Given the description of an element on the screen output the (x, y) to click on. 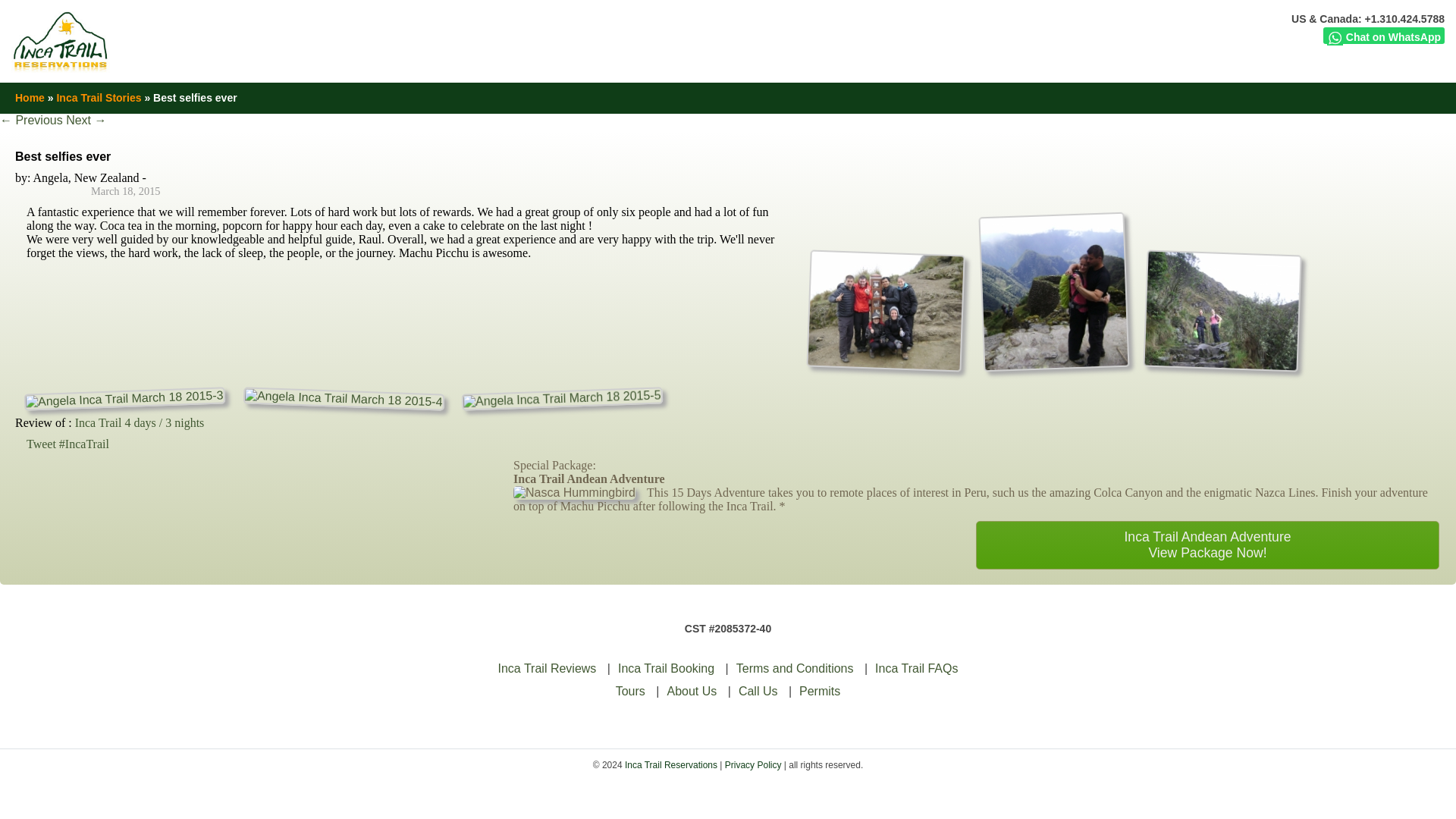
facebook (1309, 97)
Angela Inca Trail March 18 2015-5 (561, 394)
Inca Trail Reservations (670, 765)
Home (29, 97)
Angela Inca Trail March 18 2015 (883, 307)
Angela Inca Trail March 18 2015-1 (1056, 362)
Call Us (757, 690)
Angela Inca Trail March 18 2015-3 (124, 394)
Inca Trail Stories (98, 97)
Inca Trail Booking (665, 667)
